Given the description of an element on the screen output the (x, y) to click on. 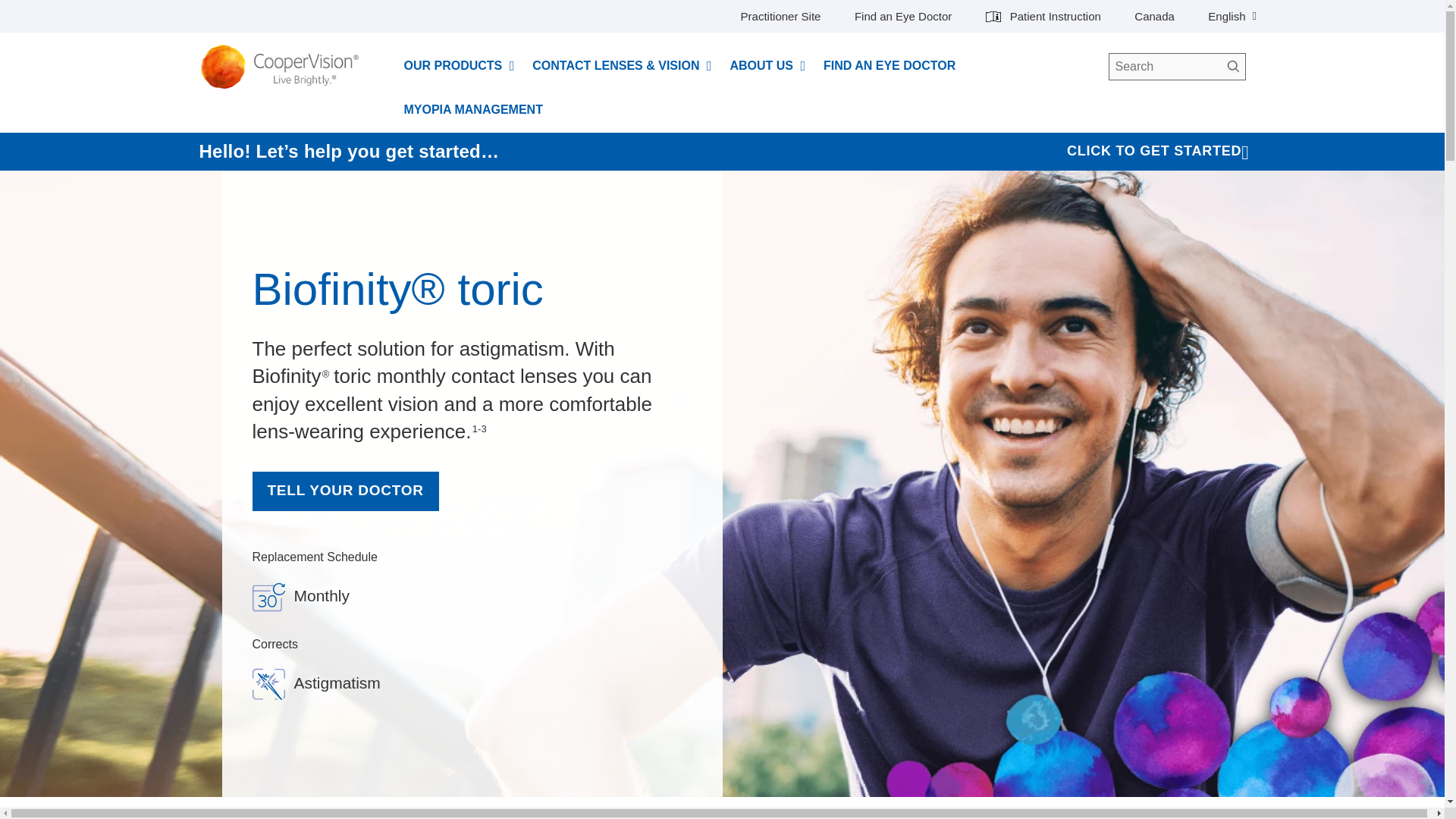
Search (1232, 66)
Enter the terms you wish to search for. (1177, 66)
OUR PRODUCTS (452, 65)
English (1231, 16)
Patient Instruction (1042, 16)
Canada (1154, 16)
CooperVision Canada (284, 66)
Find an Eye Doctor (903, 16)
Practitioner Site (781, 16)
Search (1232, 66)
